Given the description of an element on the screen output the (x, y) to click on. 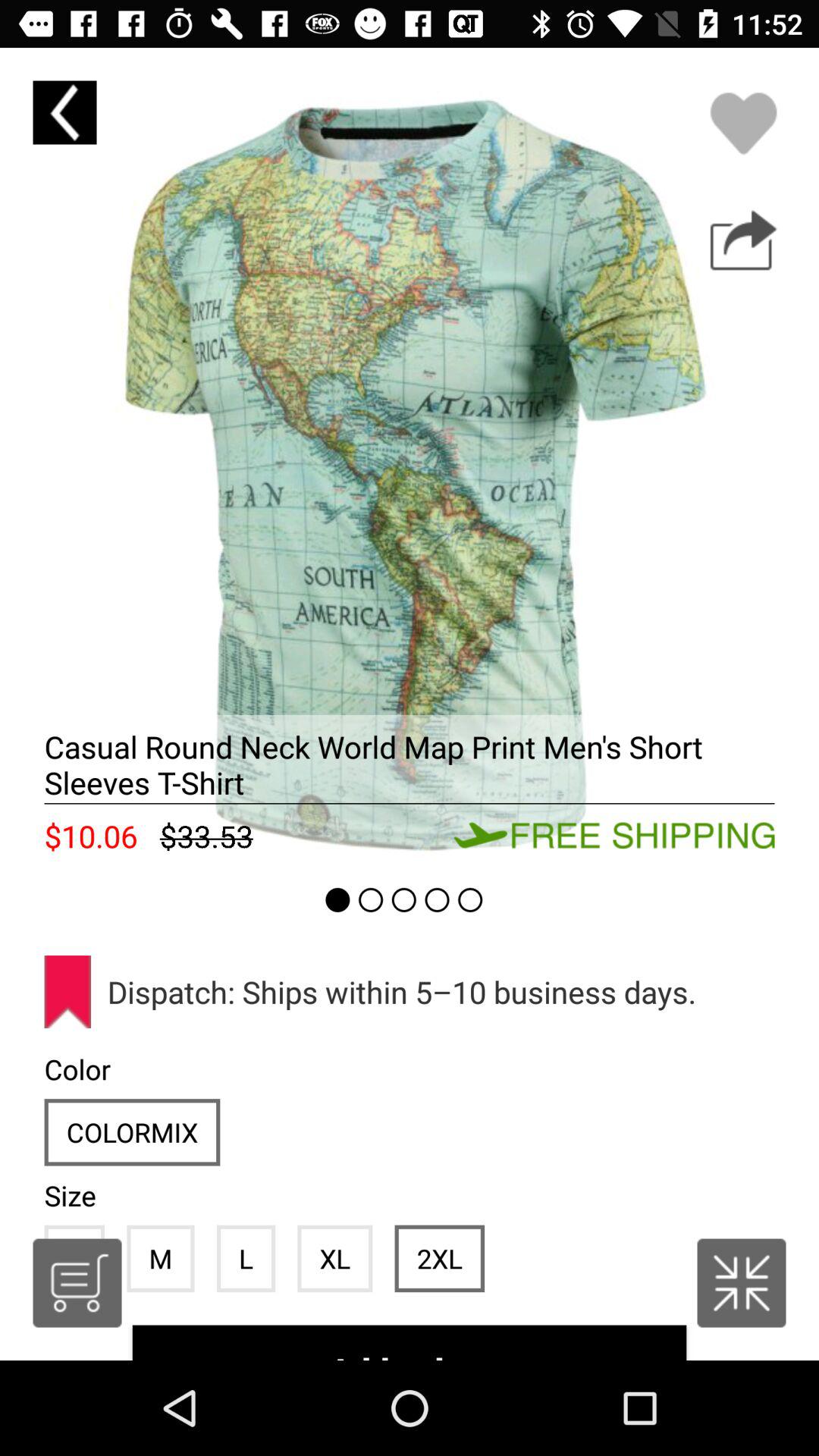
turn off item next to the 2xl (334, 1258)
